Given the description of an element on the screen output the (x, y) to click on. 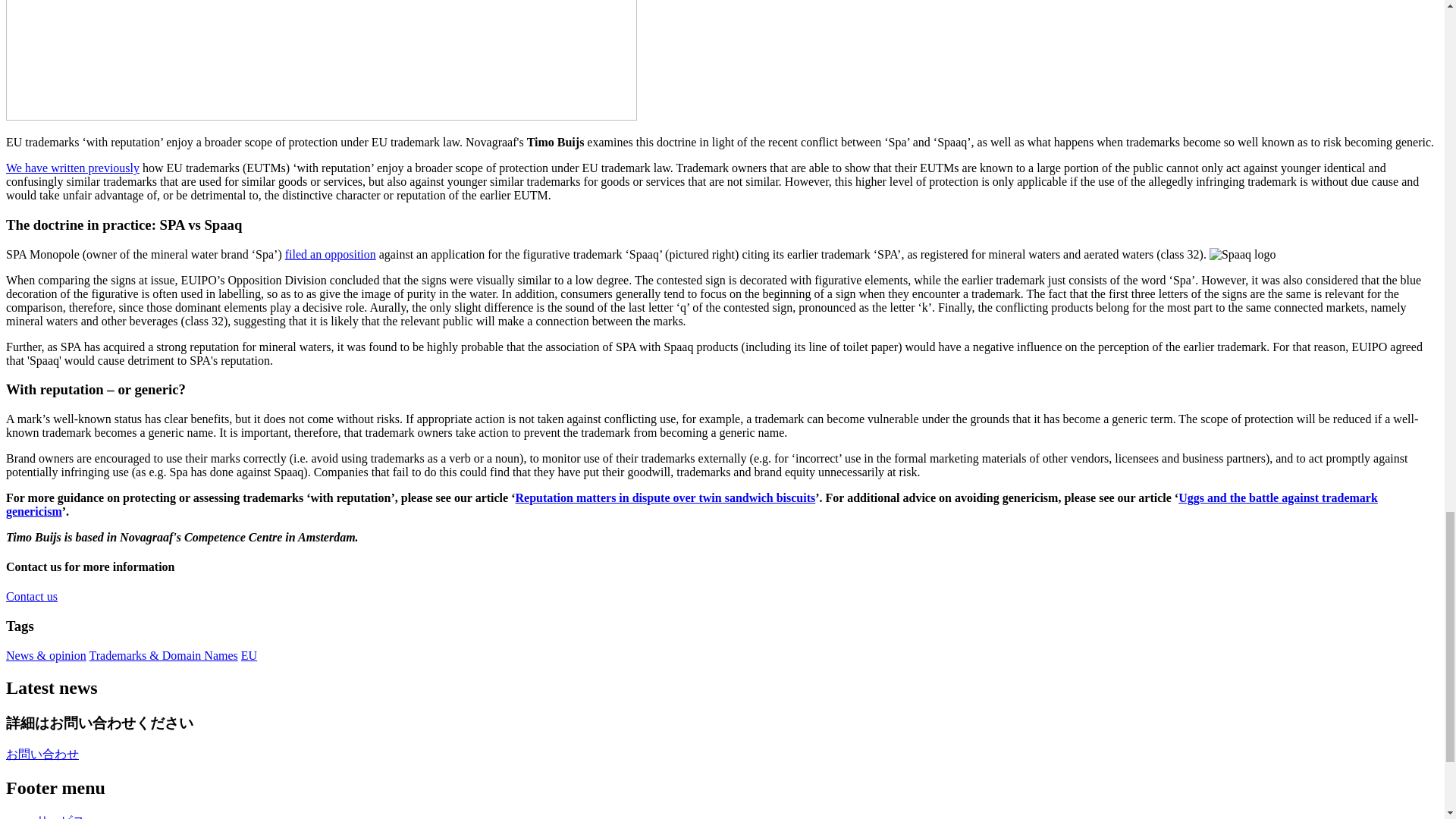
Contact us (31, 595)
EU (249, 655)
Uggs and the battle against trademark genericism (691, 504)
We have written previously (72, 167)
filed an opposition (330, 253)
Reputation matters in dispute over twin sandwich biscuits (665, 497)
